Given the description of an element on the screen output the (x, y) to click on. 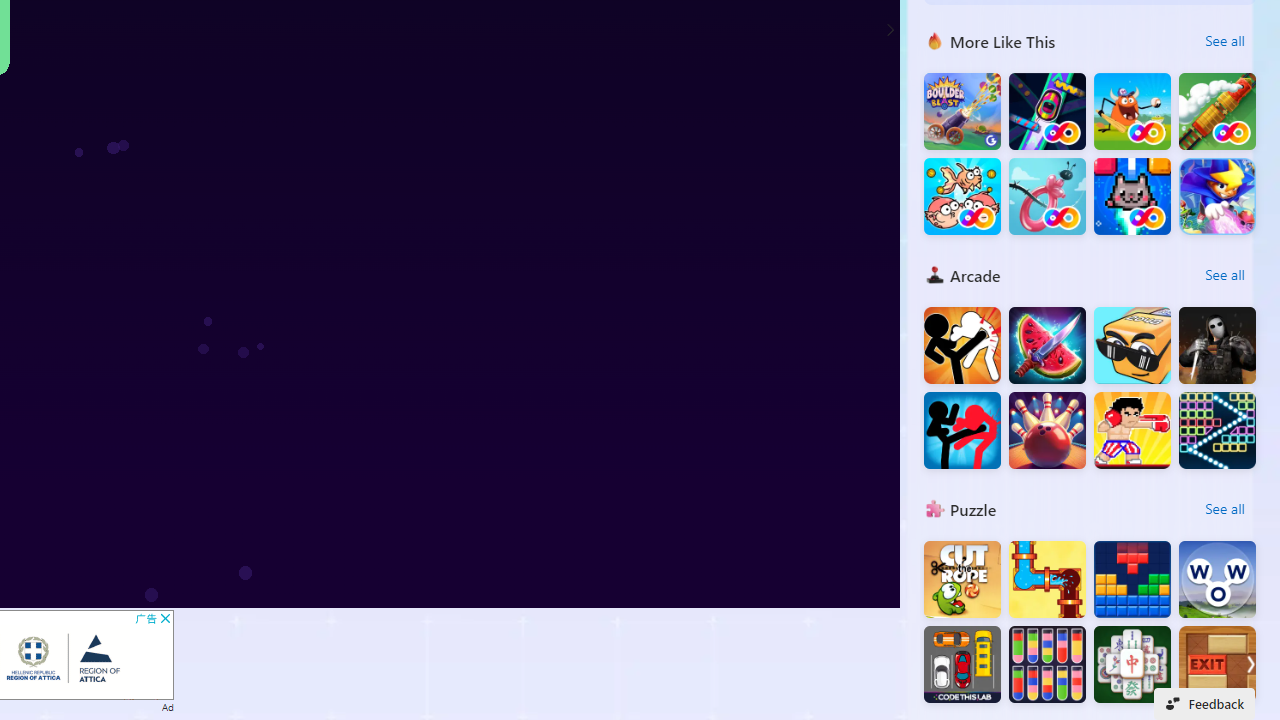
Stickman fighter : Epic battle (962, 430)
Puzzle (934, 508)
See all (1224, 508)
Words of Wonders (1217, 579)
Arcade (934, 274)
Bumper Car FRVR (1047, 111)
Cut the Rope (962, 579)
Super Bowling Mania (1047, 430)
Solitaire Mahjong Classic (1132, 664)
Castle Of Magic (1217, 196)
BlockBuster: Adventures Puzzle (1132, 579)
